Given the description of an element on the screen output the (x, y) to click on. 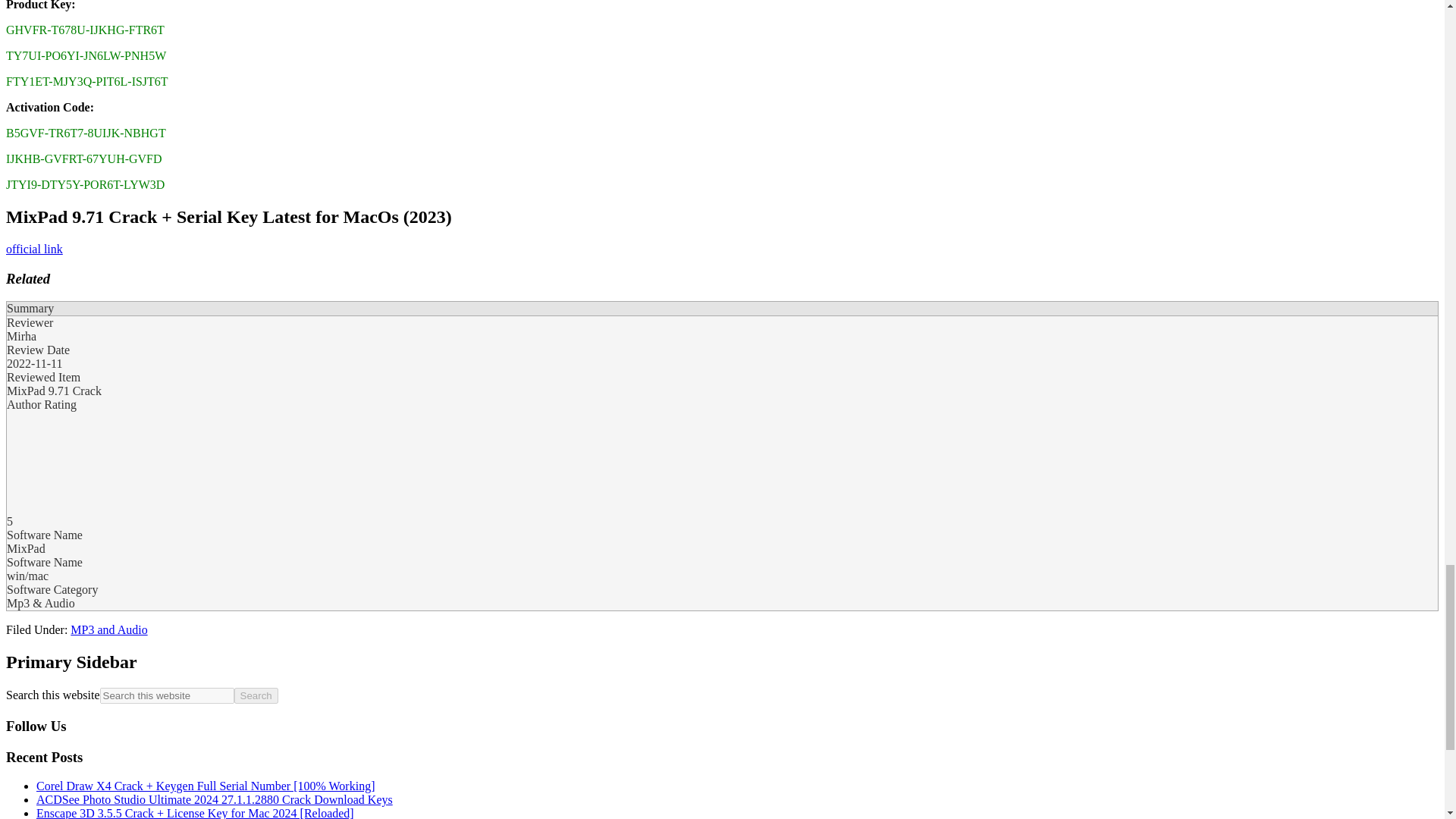
MP3 and Audio (108, 629)
official link (33, 248)
Search (256, 695)
Search (256, 695)
Search (256, 695)
